Given the description of an element on the screen output the (x, y) to click on. 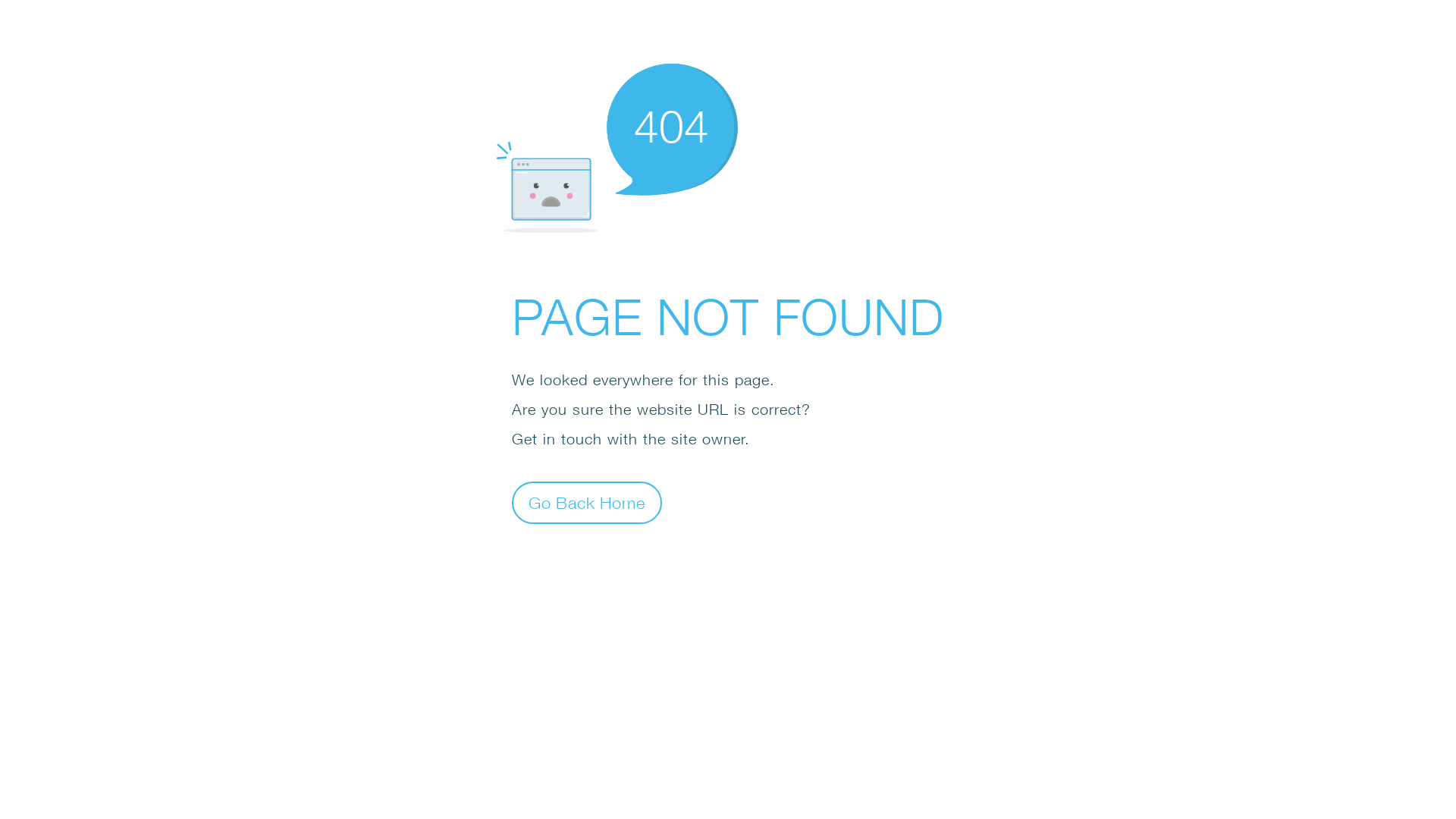
Go Back Home Element type: text (586, 502)
